Given the description of an element on the screen output the (x, y) to click on. 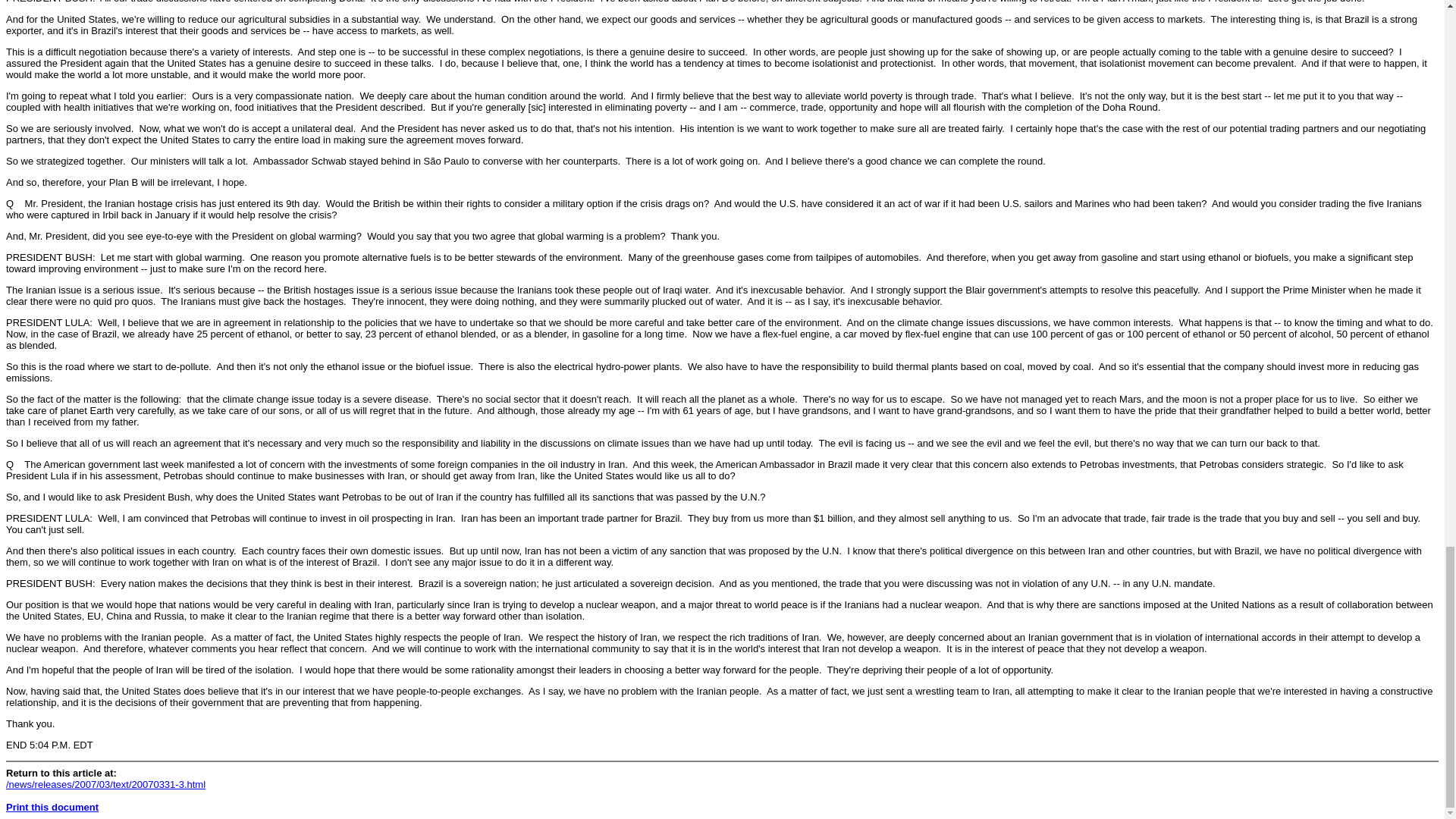
Print this document (52, 807)
